Given the description of an element on the screen output the (x, y) to click on. 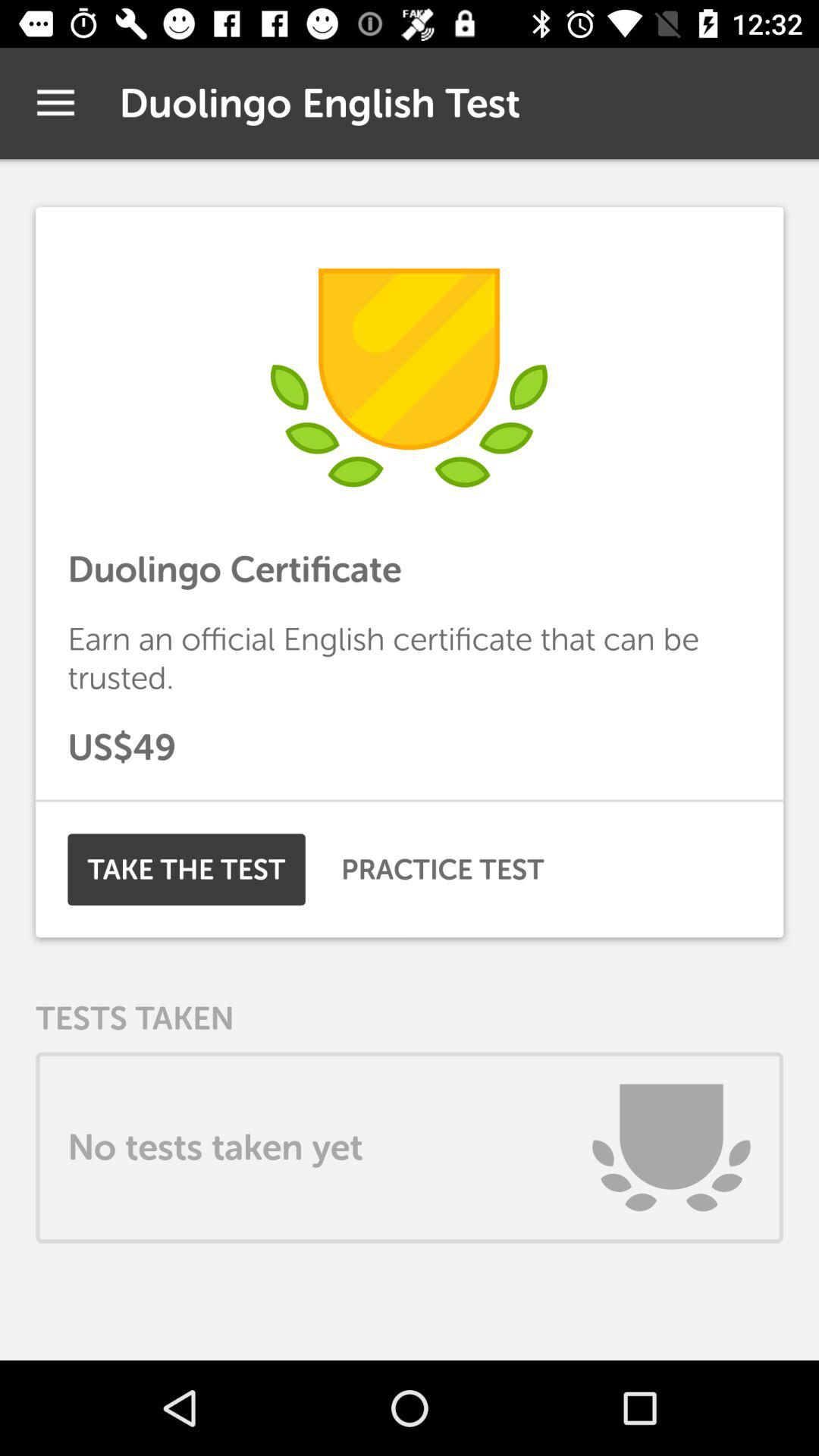
menu (55, 103)
